Given the description of an element on the screen output the (x, y) to click on. 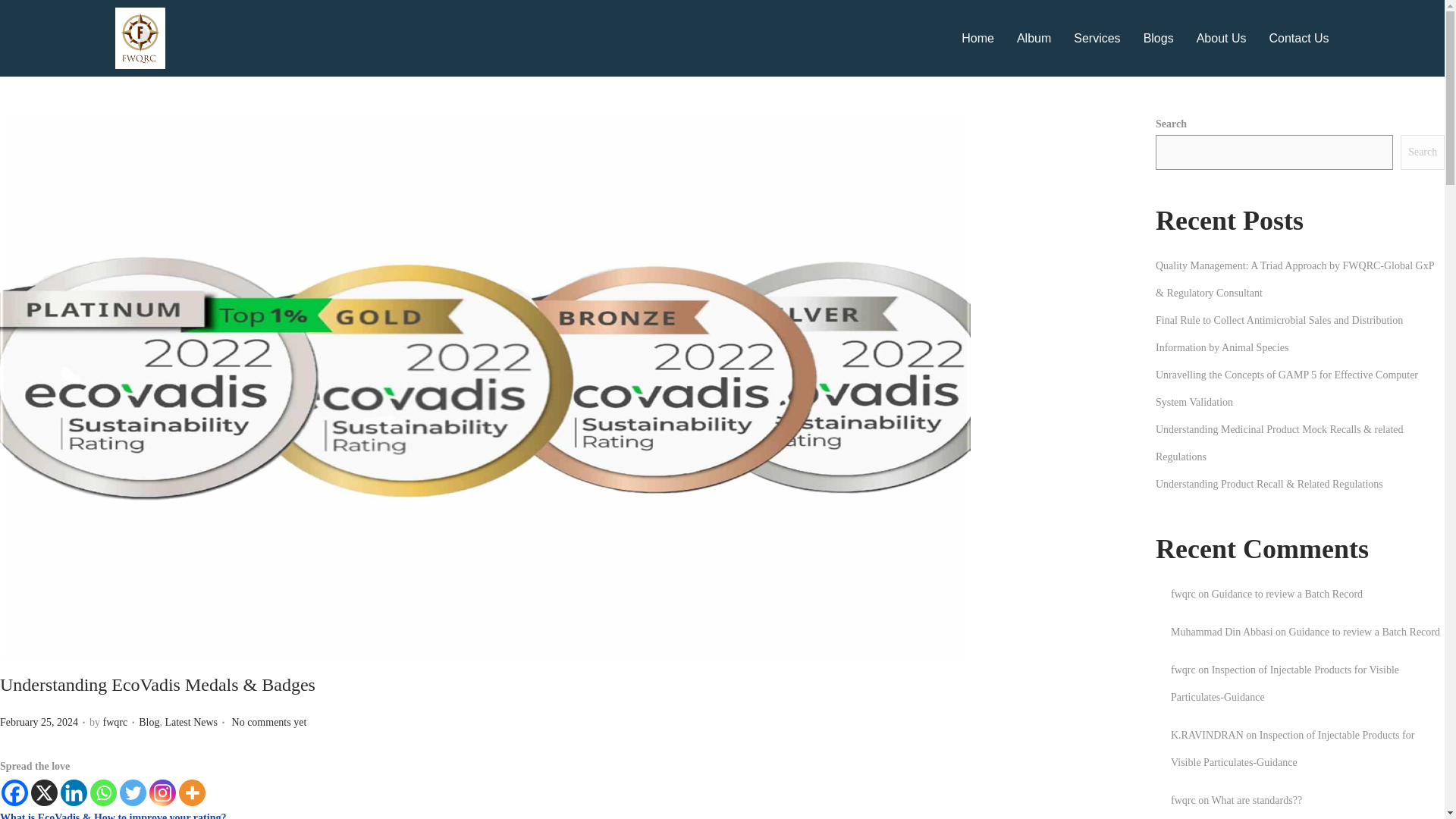
Linkedin (74, 792)
More (192, 792)
X (44, 792)
Instagram (162, 792)
Blogs (1157, 38)
Whatsapp (103, 792)
Facebook (14, 792)
Twitter (133, 792)
About Us (1221, 38)
Services (1096, 38)
